Given the description of an element on the screen output the (x, y) to click on. 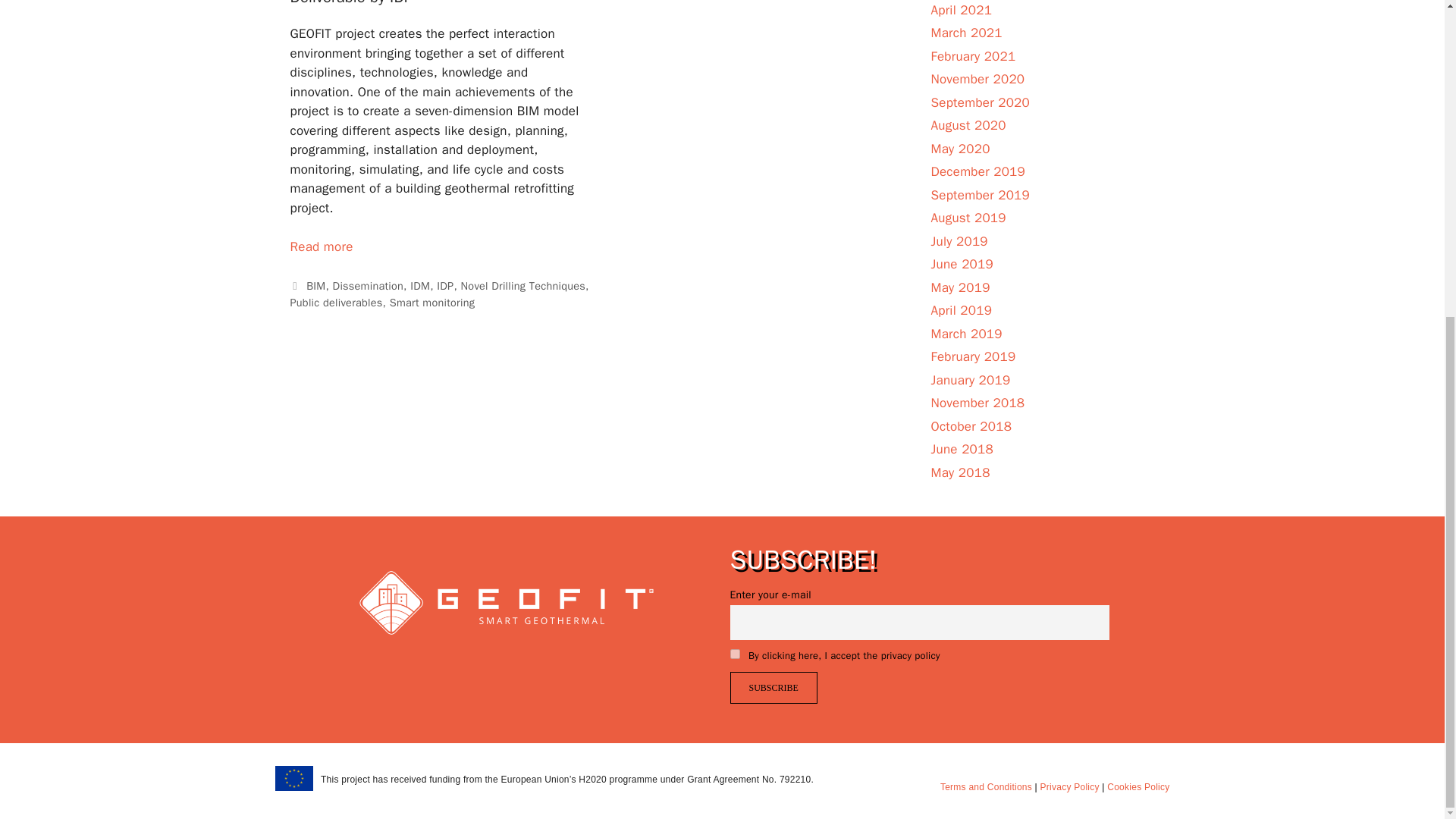
on (734, 654)
Subscribe (772, 687)
